Given the description of an element on the screen output the (x, y) to click on. 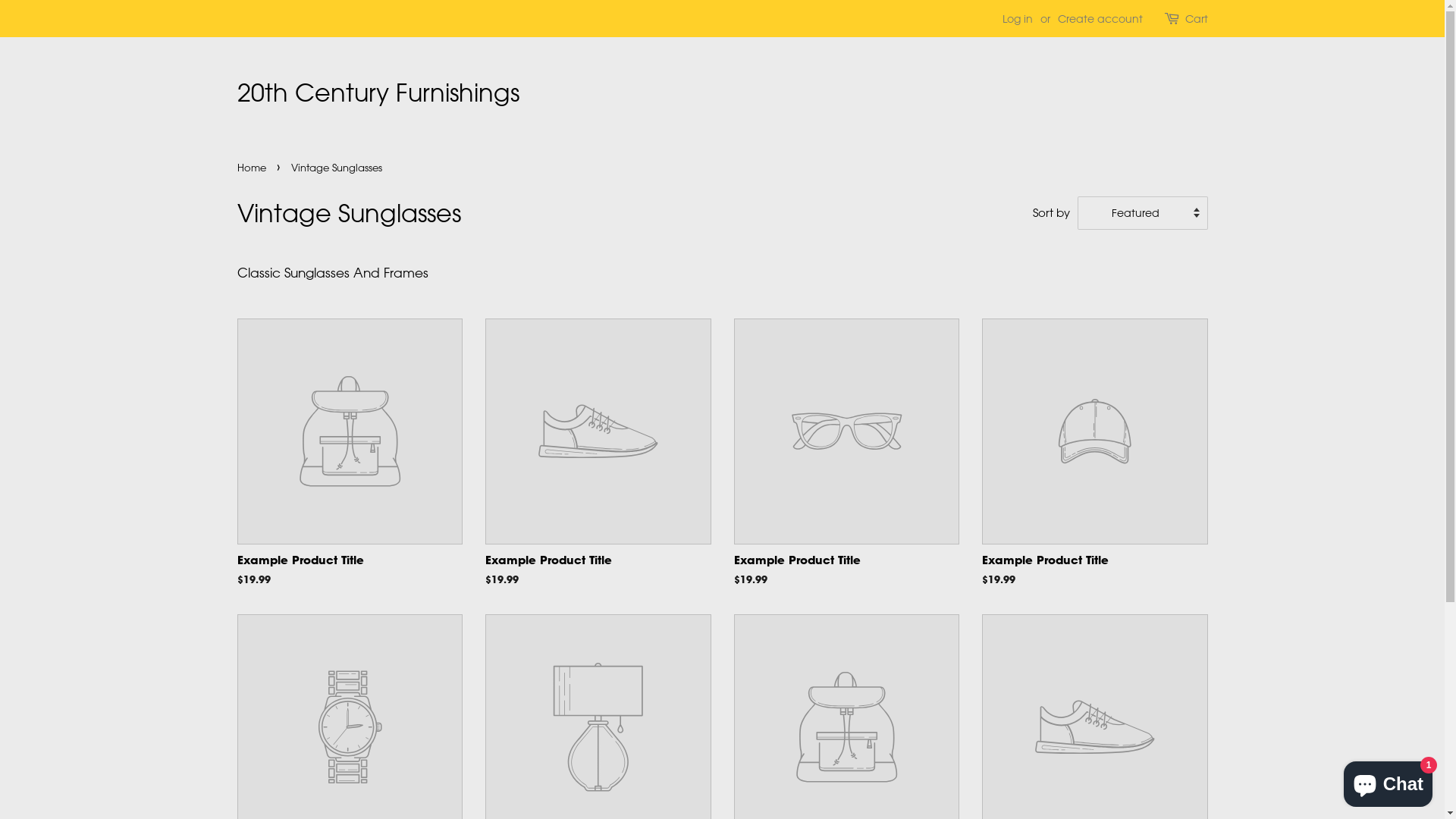
Shopify online store chat Element type: hover (1388, 780)
Example Product Title
$19.99 Element type: text (847, 466)
Home Element type: text (252, 166)
Log in Element type: text (1017, 18)
Example Product Title
$19.99 Element type: text (1095, 466)
Example Product Title
$19.99 Element type: text (598, 466)
Create account Element type: text (1099, 18)
Example Product Title
$19.99 Element type: text (349, 466)
Cart Element type: text (1195, 18)
20th Century Furnishings Element type: text (377, 92)
